Given the description of an element on the screen output the (x, y) to click on. 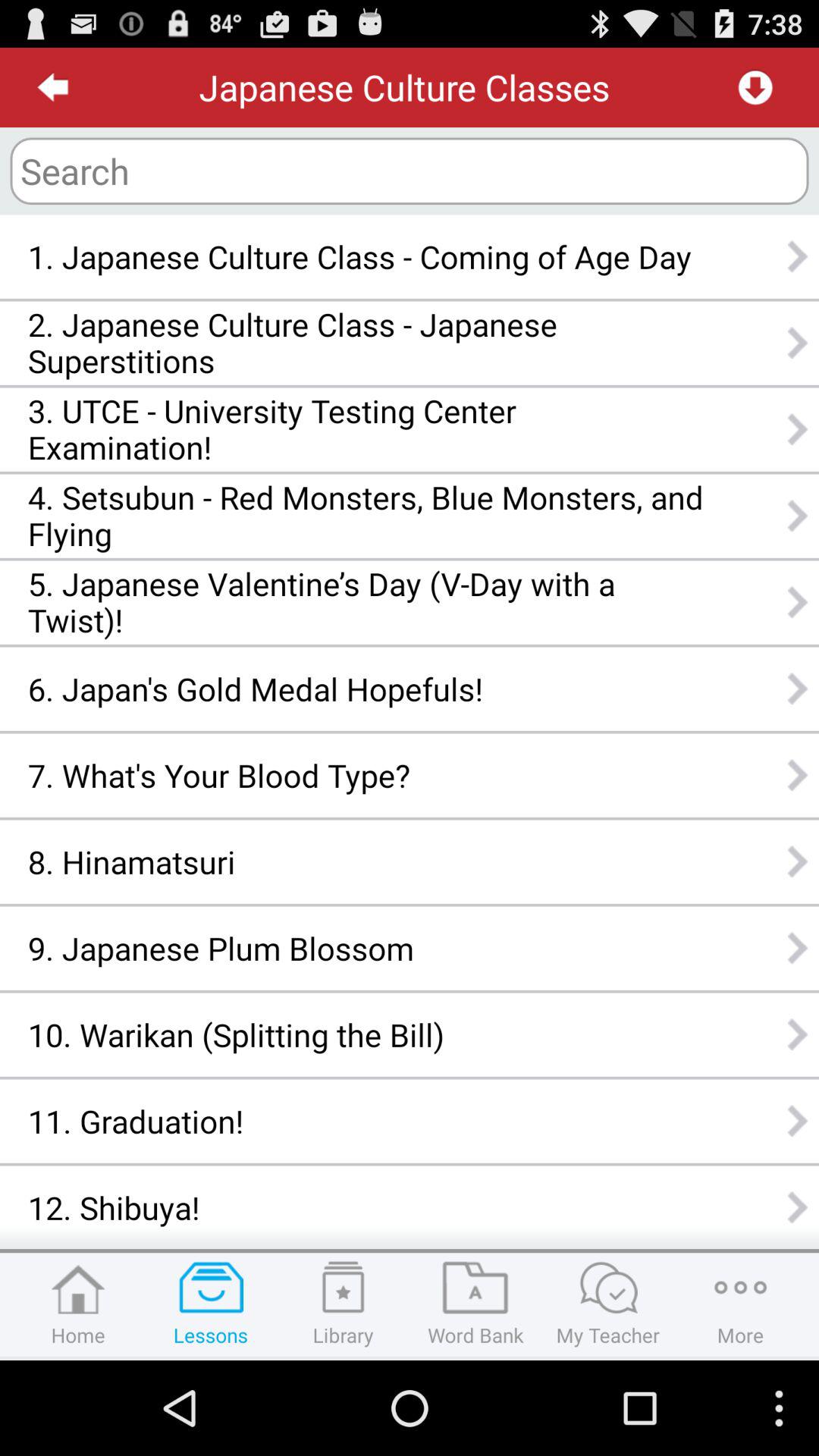
click 4 setsubun red app (365, 515)
